Given the description of an element on the screen output the (x, y) to click on. 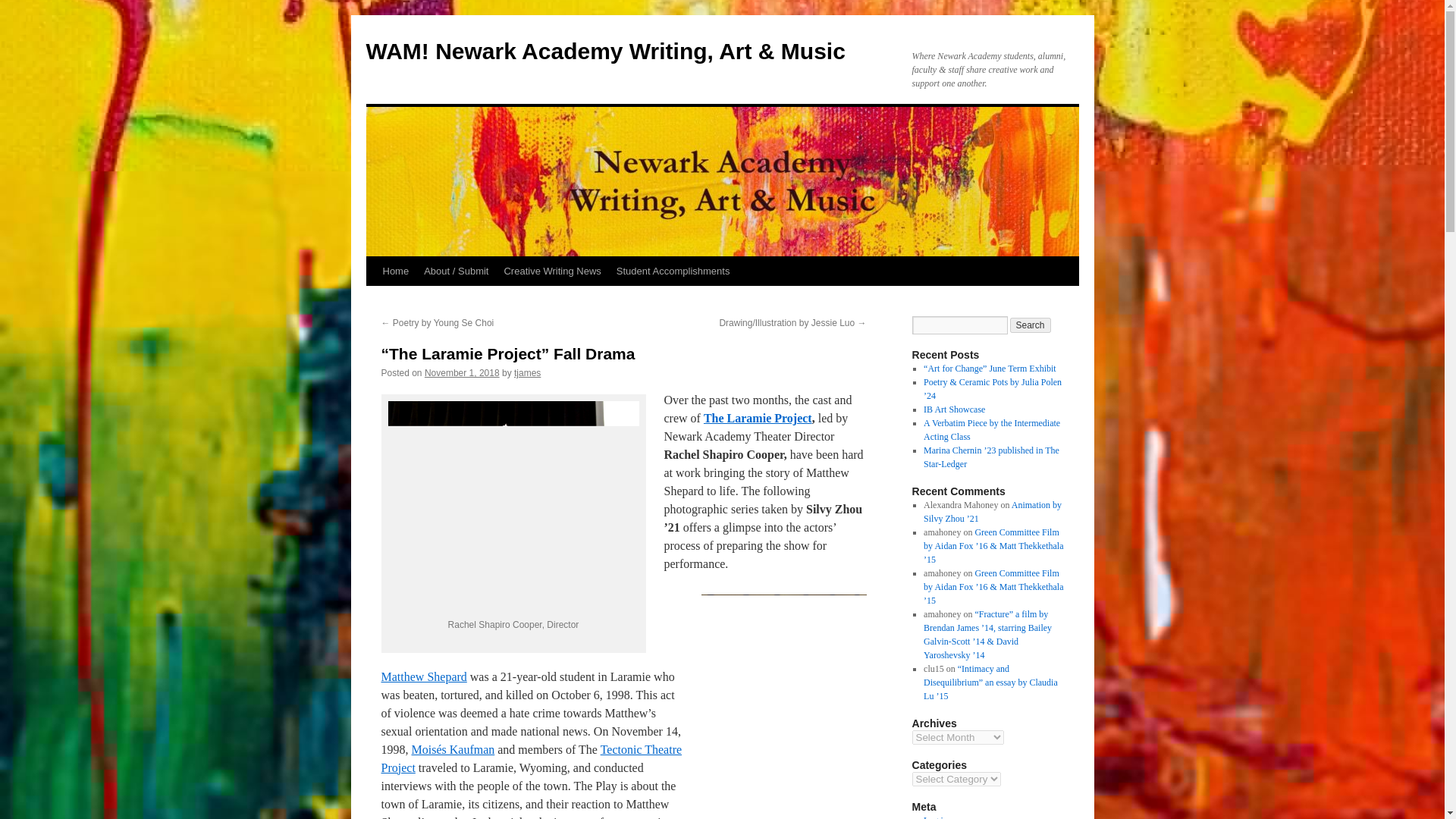
Tectonic Theatre Project (530, 757)
Search (1030, 324)
9:11 am (462, 372)
tjames (526, 372)
Matthew Shepard (422, 676)
View all posts by tjames (526, 372)
Student Accomplishments (673, 271)
November 1, 2018 (462, 372)
Home (395, 271)
The Laramie Project (757, 418)
